Given the description of an element on the screen output the (x, y) to click on. 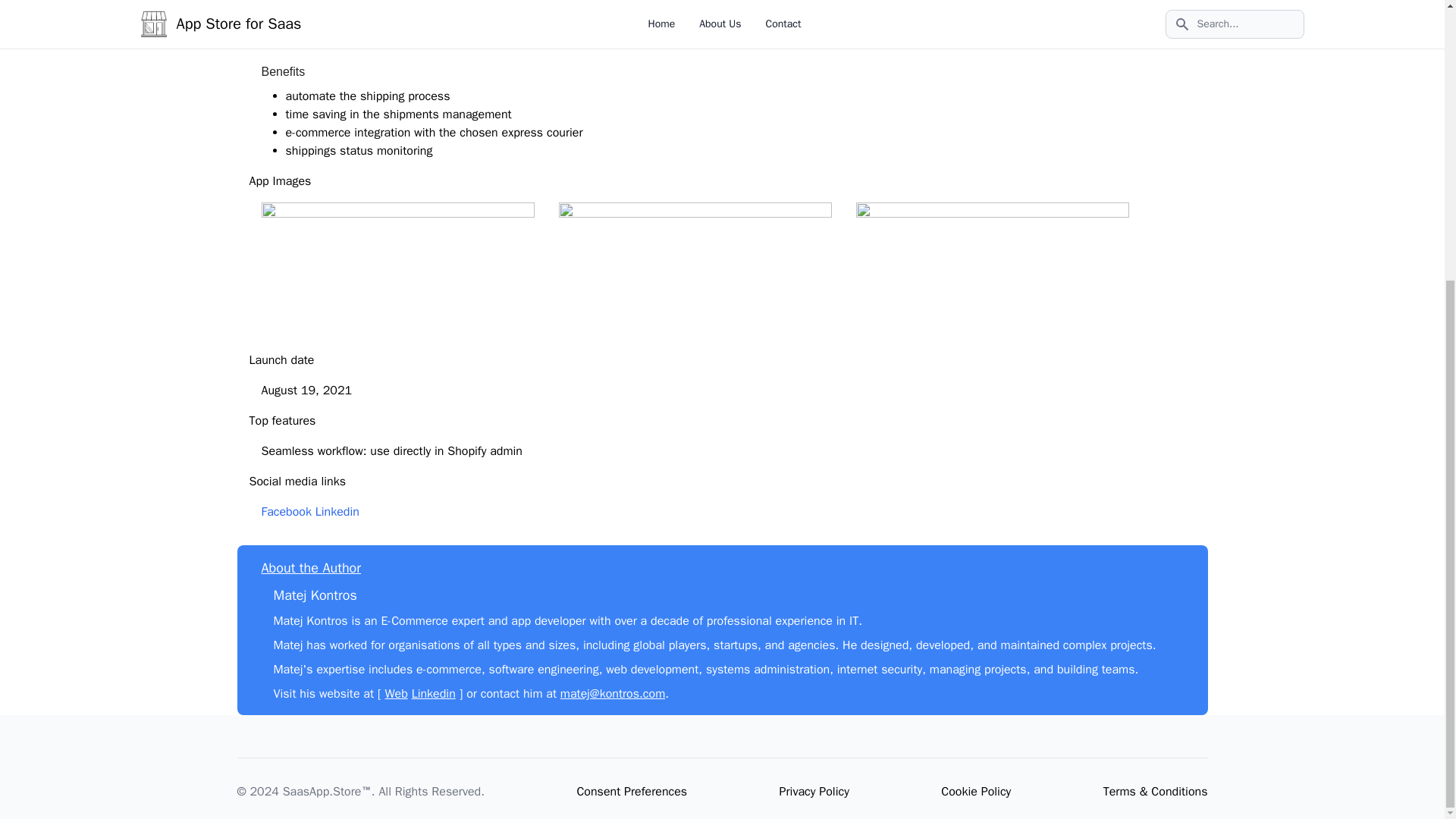
Privacy Policy (813, 791)
Linkedin (337, 511)
Linkedin (433, 693)
Consent Preferences (631, 791)
Web (395, 693)
Facebook (285, 511)
Matej Kontros (314, 595)
Cookie Policy (975, 791)
